Given the description of an element on the screen output the (x, y) to click on. 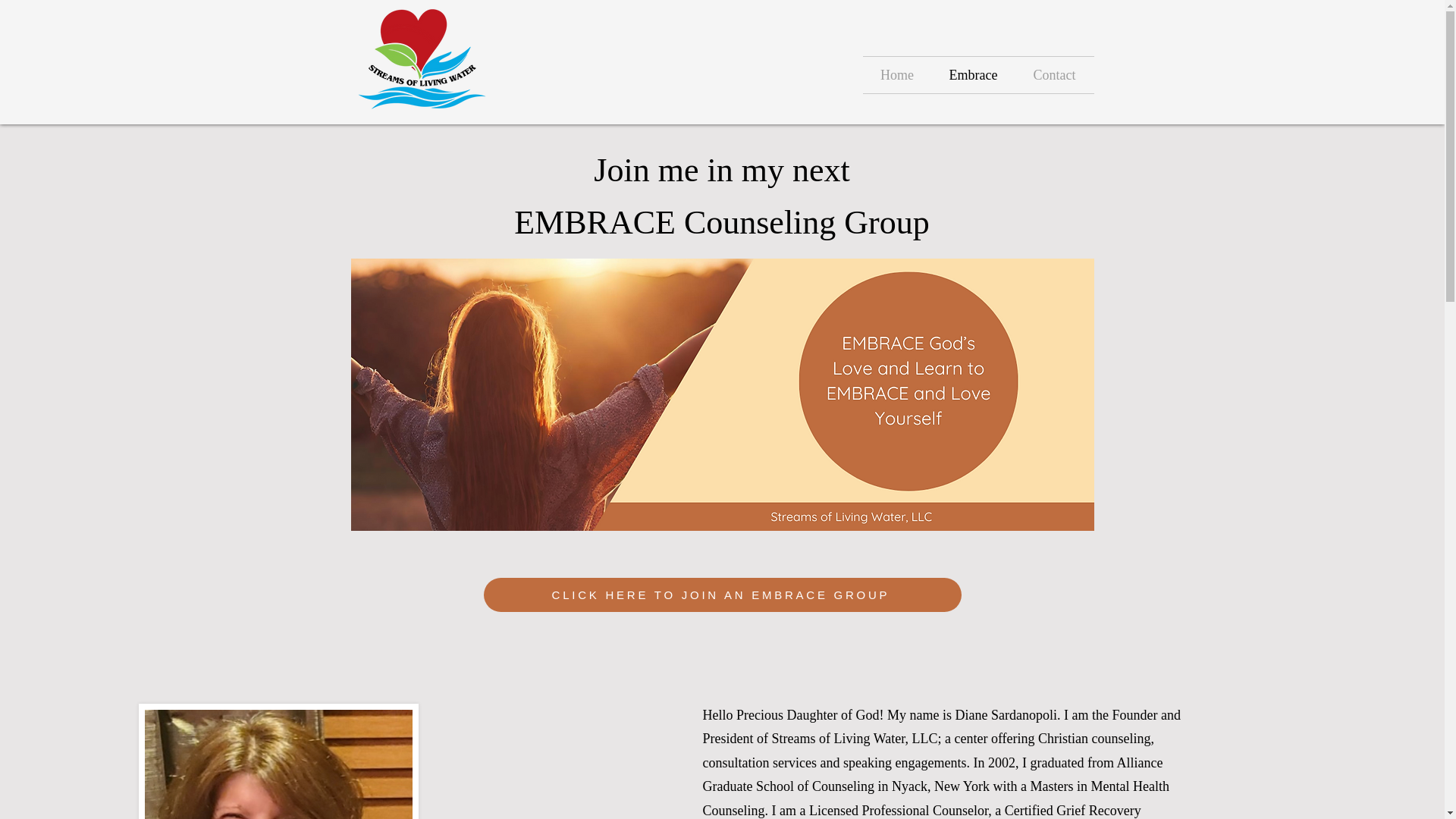
Home (897, 74)
Embrace (972, 74)
Contact (1053, 74)
CLICK HERE TO JOIN AN EMBRACE GROUP (721, 594)
image.png (278, 761)
